Given the description of an element on the screen output the (x, y) to click on. 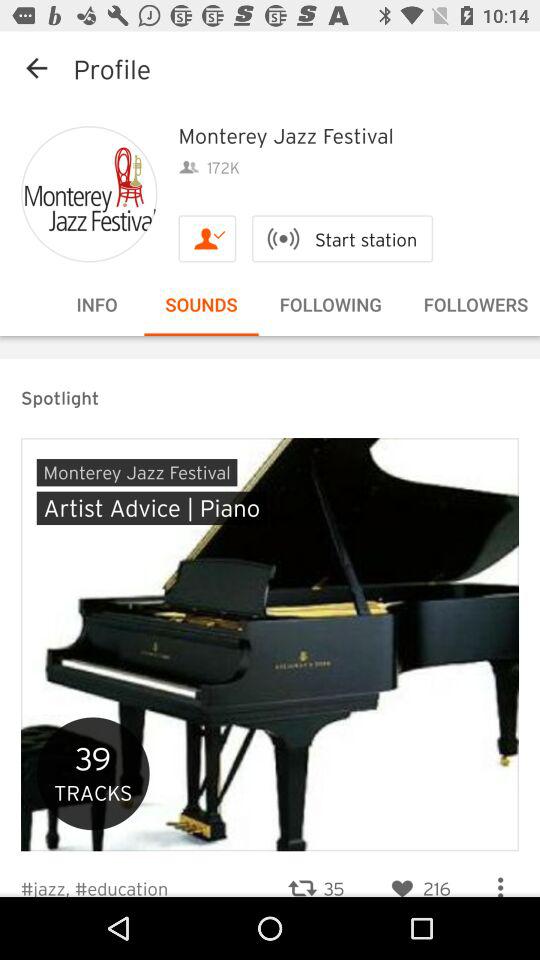
press icon next to #jazz, #education icon (315, 876)
